Given the description of an element on the screen output the (x, y) to click on. 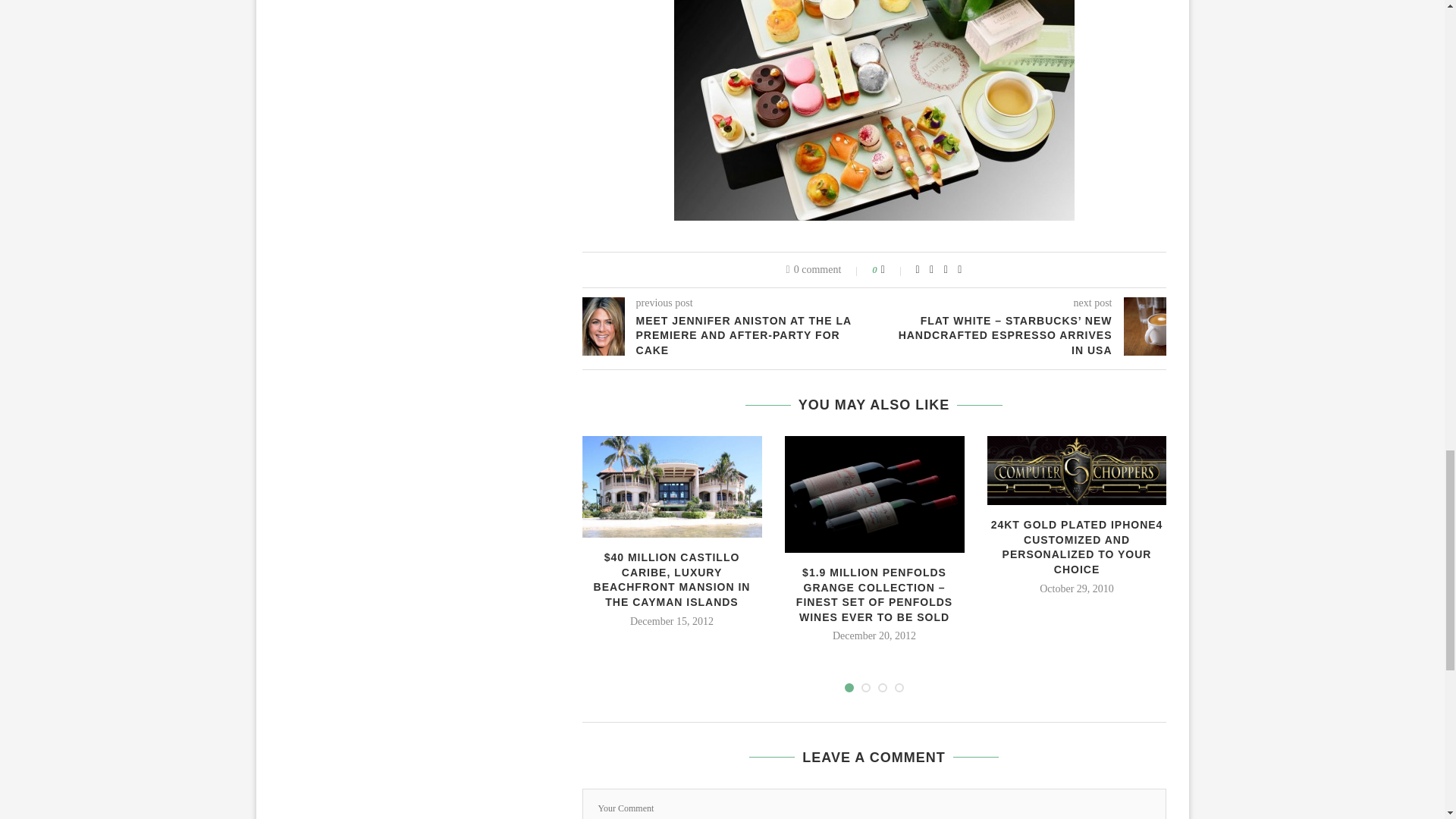
Like (892, 269)
